Given the description of an element on the screen output the (x, y) to click on. 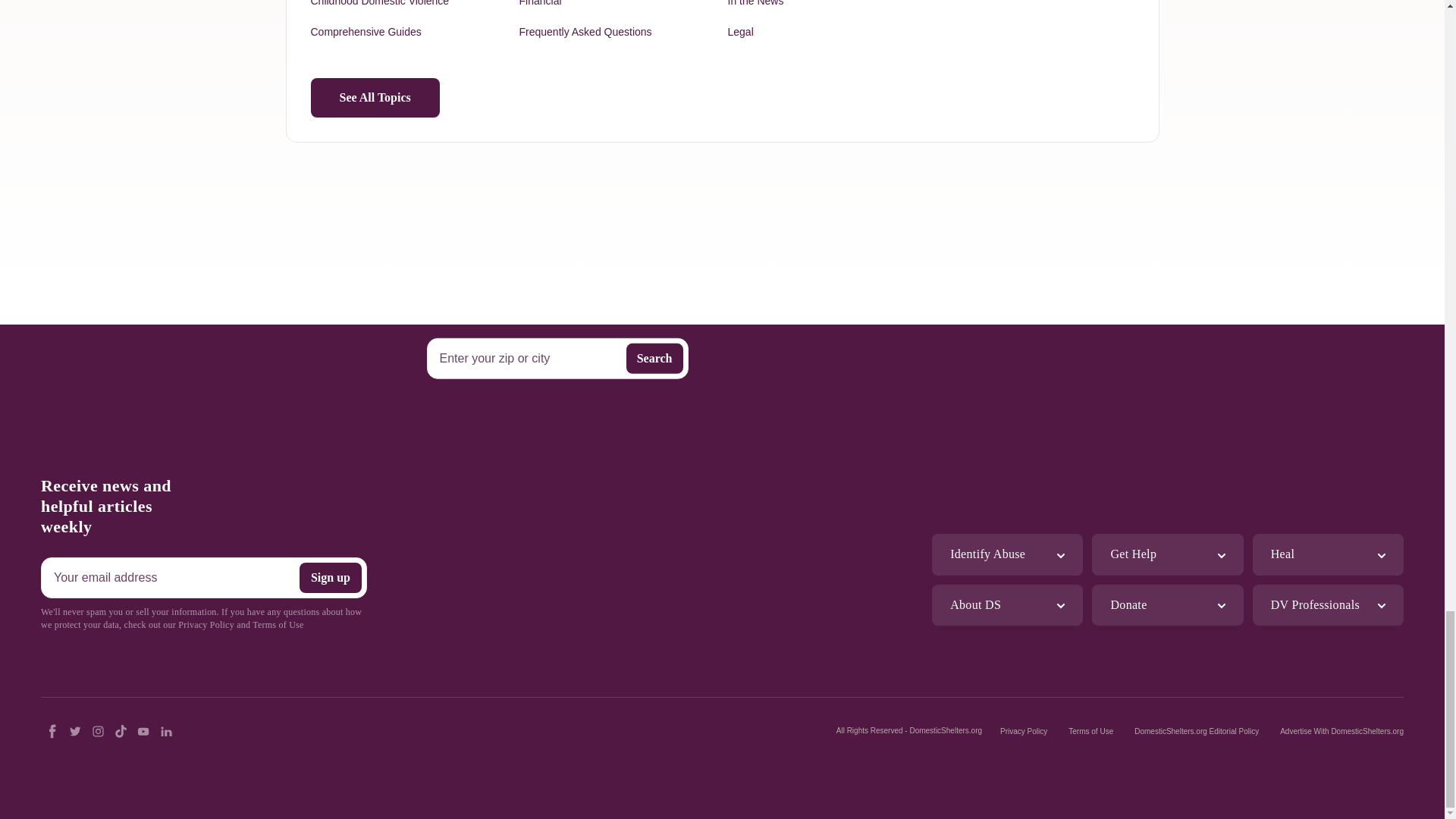
Sign up (330, 577)
